Given the description of an element on the screen output the (x, y) to click on. 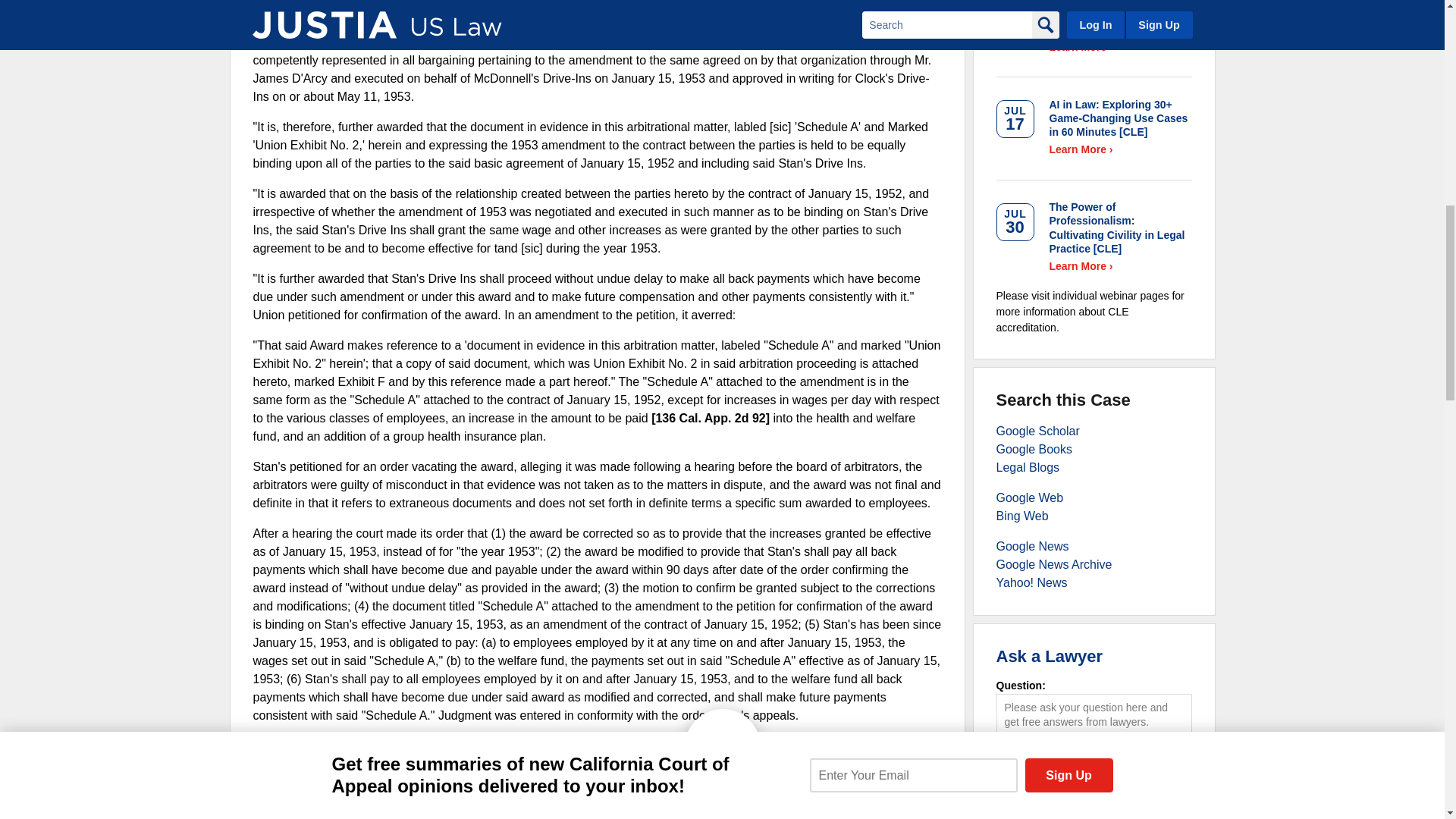
Law - Google Web (1029, 497)
Law - Yahoo! News (1031, 582)
Law - Google News (1031, 545)
Law - Google News Archive (1053, 563)
Law - Google Scholar (1037, 431)
Law - Legal Blogs (1027, 467)
Law - Google Books (1034, 449)
Law - Bing Web (1021, 515)
